Given the description of an element on the screen output the (x, y) to click on. 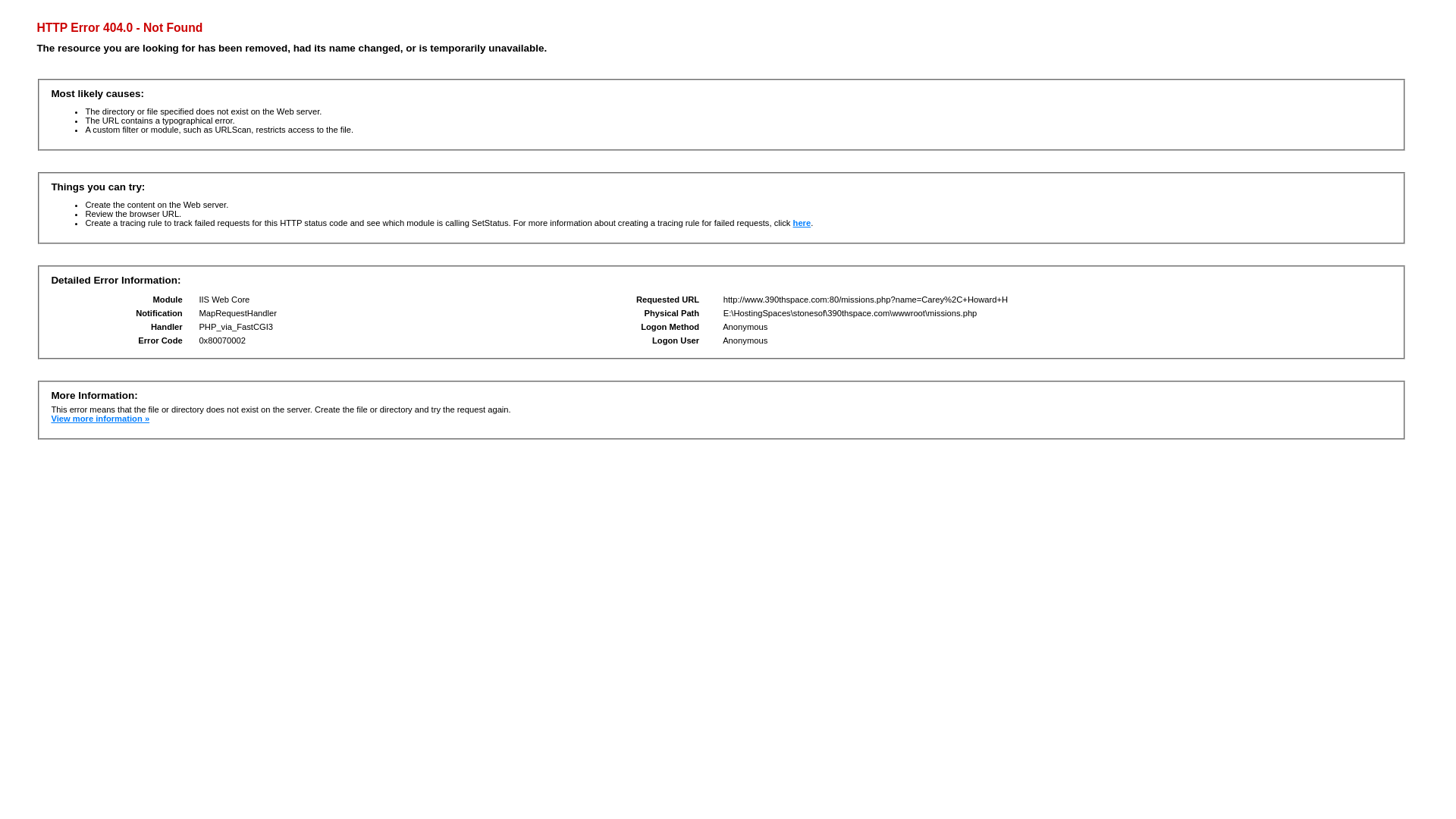
here Element type: text (802, 222)
